Given the description of an element on the screen output the (x, y) to click on. 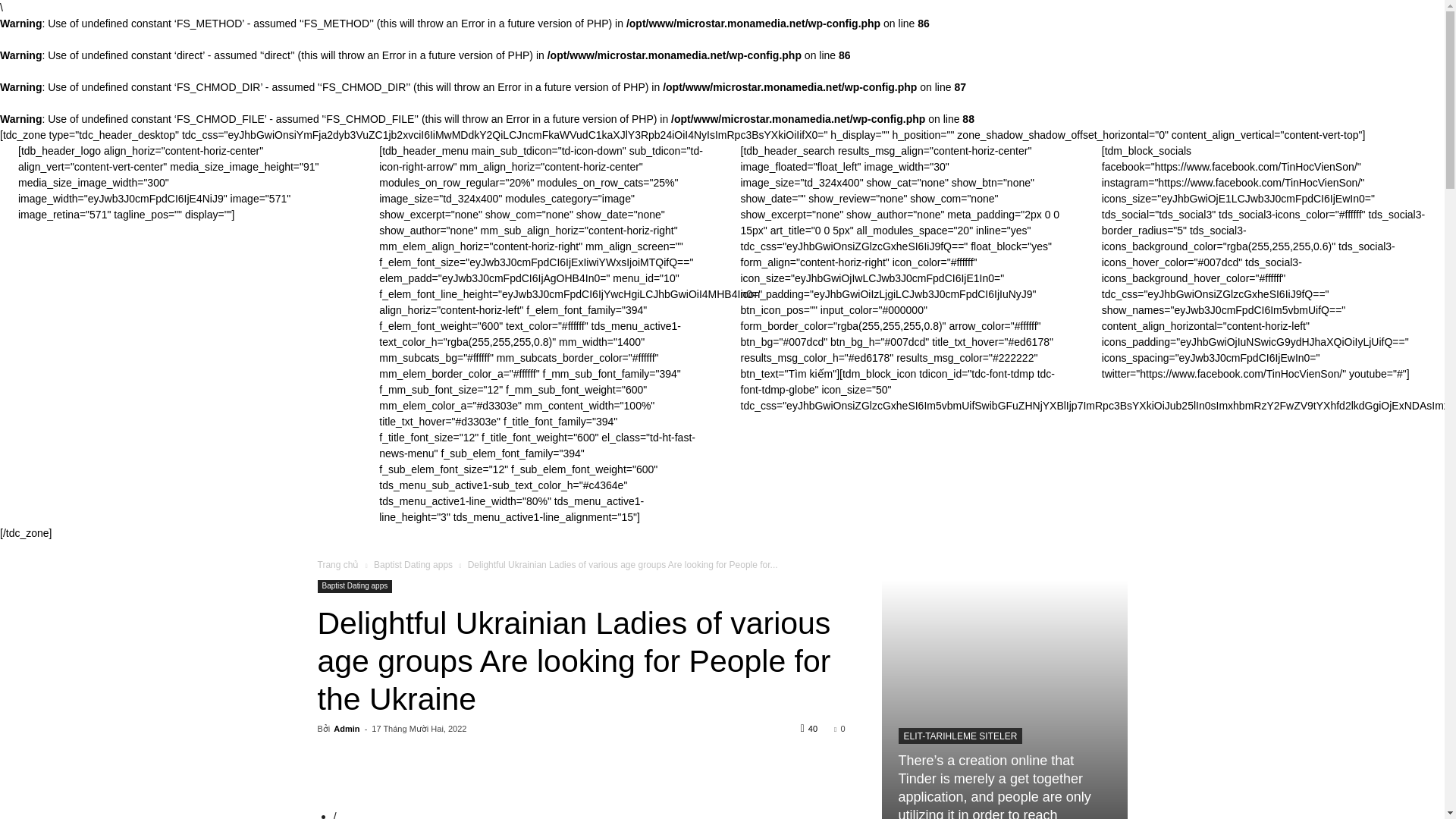
0 (839, 728)
ELIT-TARIHLEME SITELER (960, 735)
Baptist Dating apps (413, 564)
Admin (346, 728)
Baptist Dating apps (354, 585)
